Given the description of an element on the screen output the (x, y) to click on. 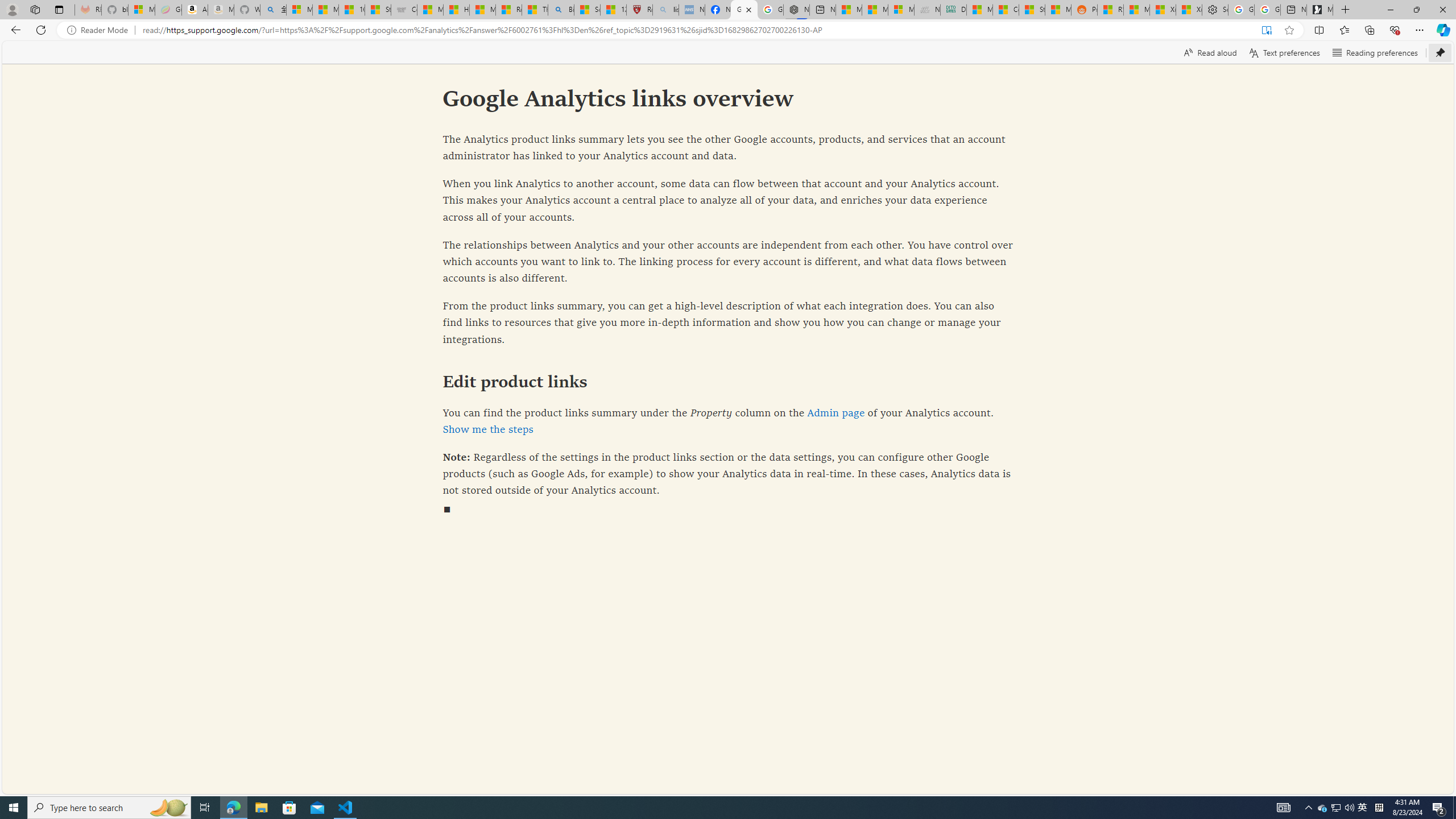
Reader Mode (100, 29)
Show me the steps (487, 429)
Robert H. Shmerling, MD - Harvard Health (639, 9)
Bing (561, 9)
